Given the description of an element on the screen output the (x, y) to click on. 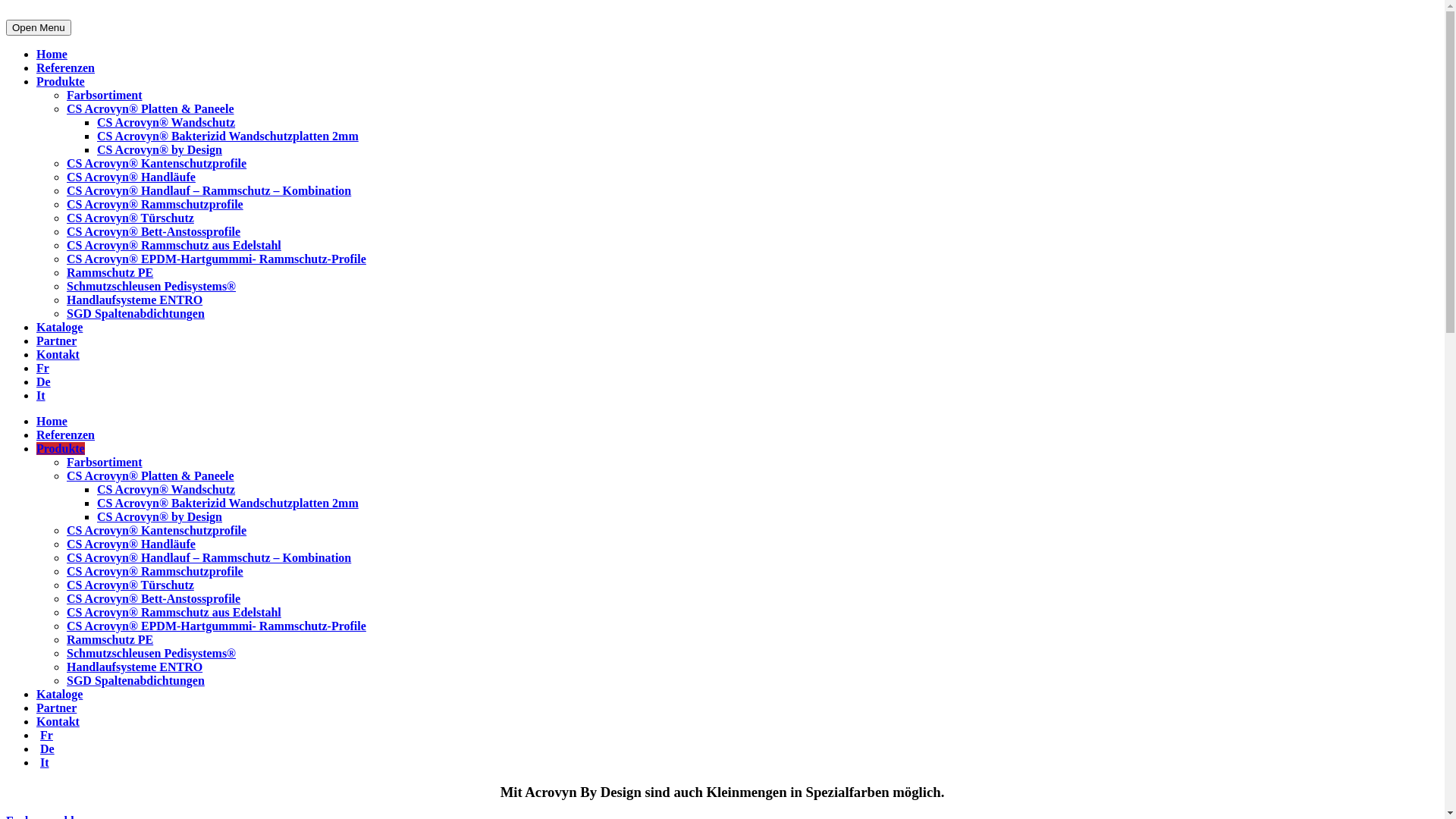
Partner Element type: text (56, 707)
De Element type: text (43, 381)
Kataloge Element type: text (59, 326)
Produkte Element type: text (60, 81)
Kataloge Element type: text (59, 693)
Fr Element type: text (42, 367)
De Element type: text (47, 748)
Kontakt Element type: text (57, 721)
It Element type: text (40, 395)
Farbsortiment Element type: text (104, 94)
Fr Element type: text (46, 734)
Partner Element type: text (56, 340)
Referenzen Element type: text (65, 67)
Referenzen Element type: text (65, 434)
SGD Spaltenabdichtungen Element type: text (135, 313)
Kontakt Element type: text (57, 354)
Farbsortiment Element type: text (104, 461)
Rammschutz PE Element type: text (109, 639)
It Element type: text (44, 762)
Home Element type: text (51, 53)
Produkte Element type: text (60, 448)
SGD Spaltenabdichtungen Element type: text (135, 680)
Rammschutz PE Element type: text (109, 272)
Handlaufsysteme ENTRO Element type: text (134, 666)
Handlaufsysteme ENTRO Element type: text (134, 299)
Open Menu Element type: text (38, 27)
Home Element type: text (51, 420)
